Given the description of an element on the screen output the (x, y) to click on. 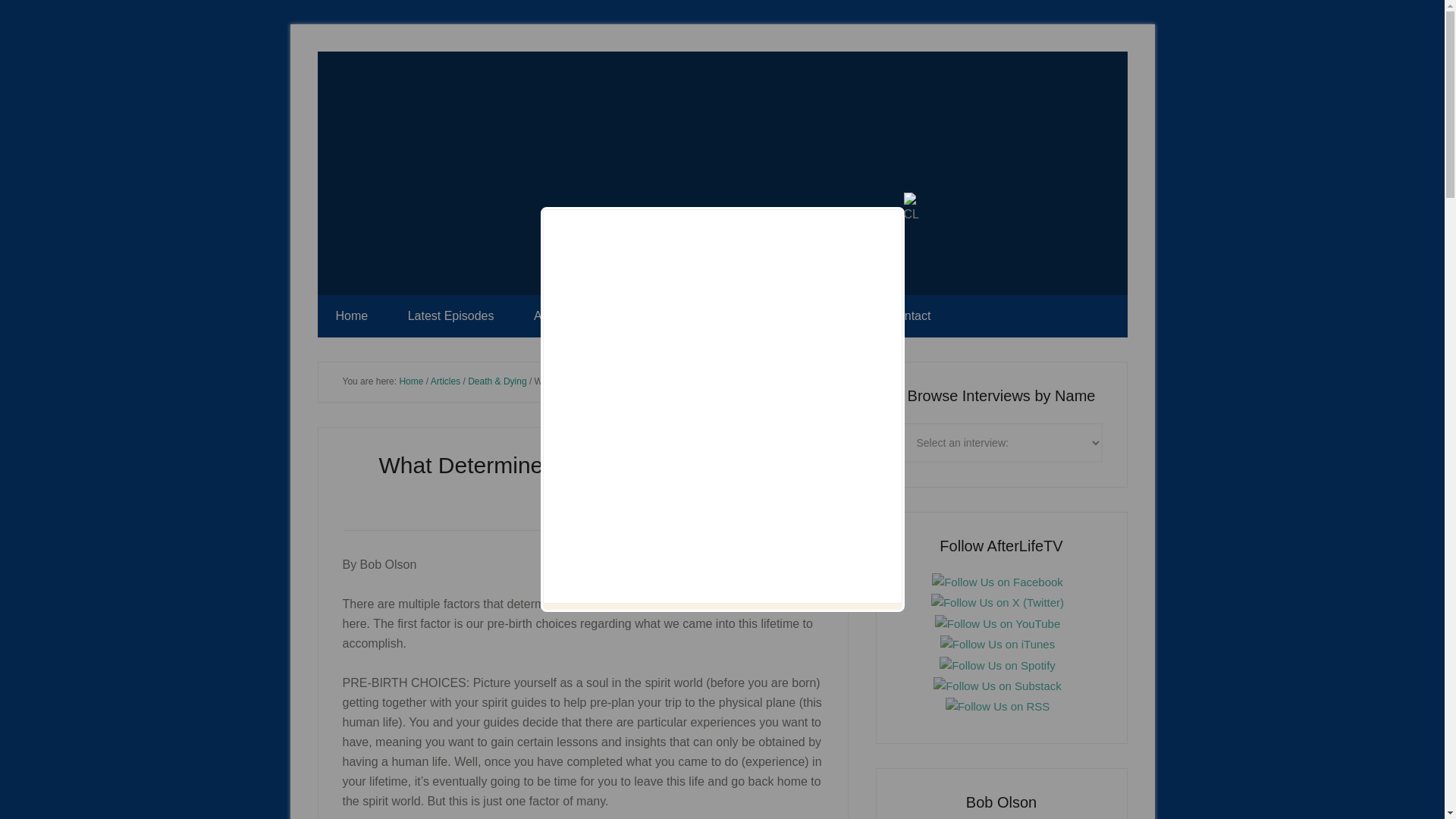
Latest Episodes (451, 315)
Contact (909, 315)
Articles (445, 380)
Home (351, 315)
Psychic Medium Readings (777, 315)
Home (410, 380)
Afterlife TV with Bob Olson (721, 172)
About (549, 315)
Bob Olson (604, 503)
